Given the description of an element on the screen output the (x, y) to click on. 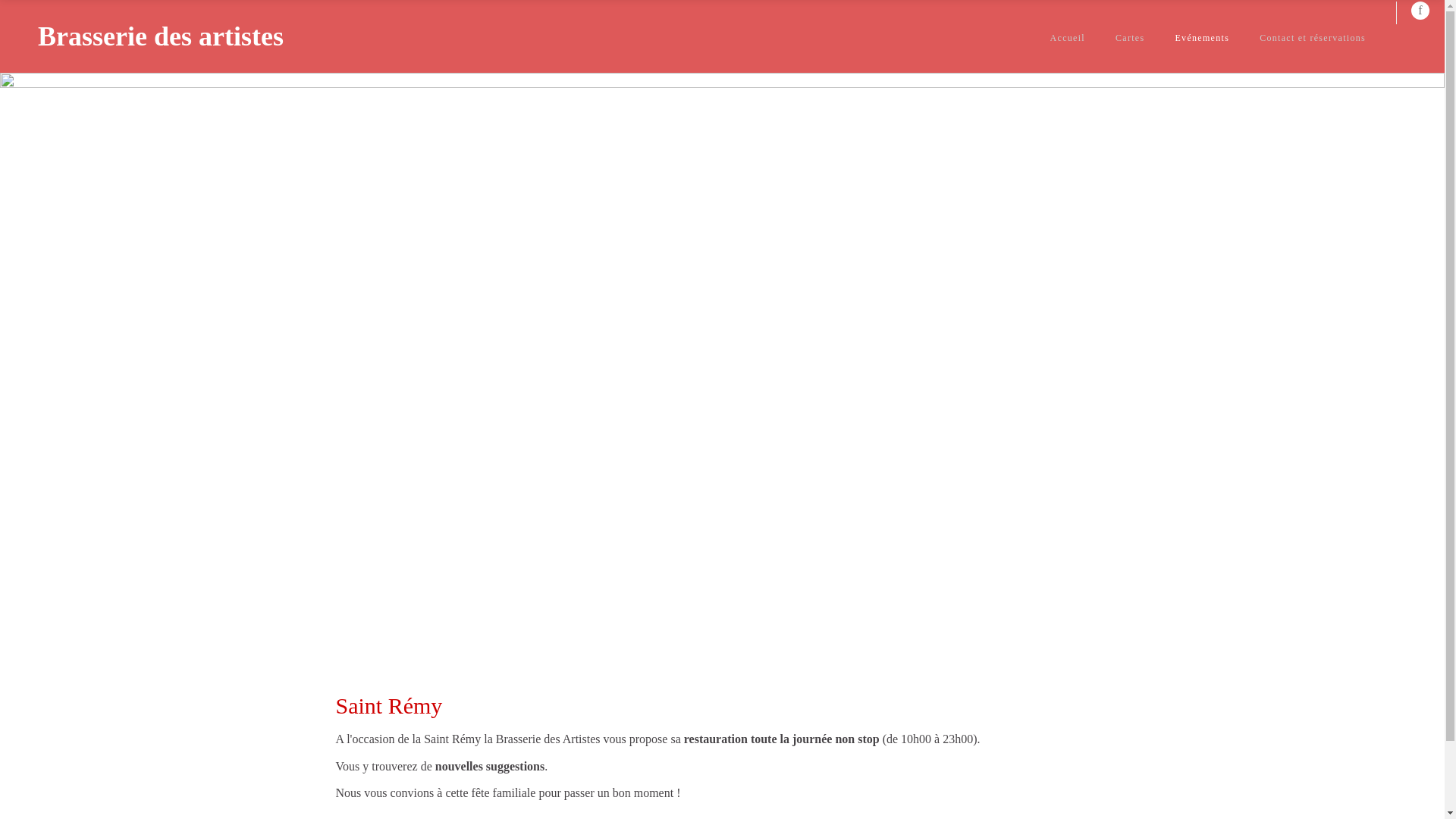
Brasserie des artistes Element type: text (160, 36)
Cartes Element type: text (1129, 37)
Accueil Element type: text (1067, 37)
